Given the description of an element on the screen output the (x, y) to click on. 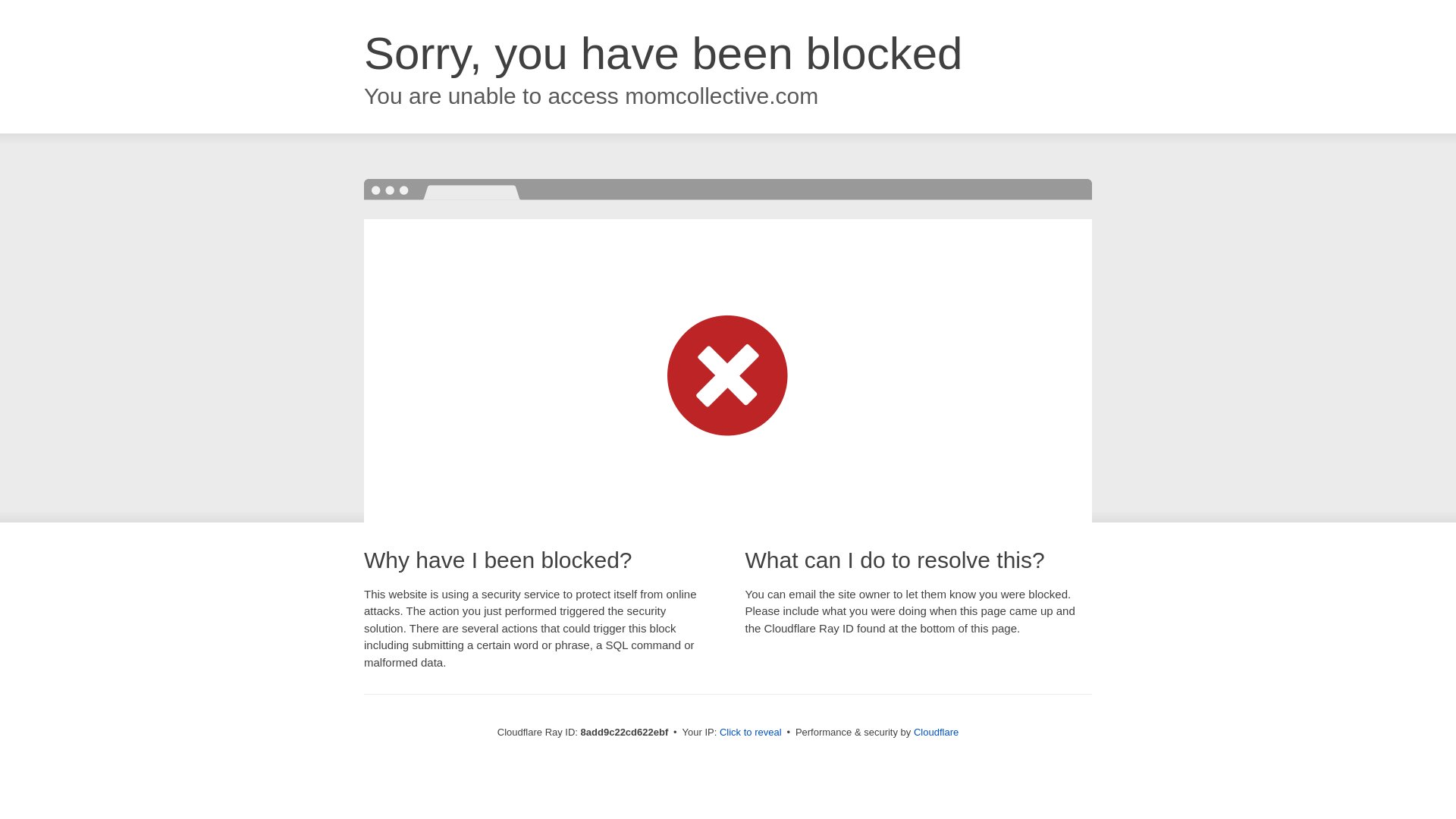
Cloudflare (936, 731)
Click to reveal (750, 732)
